Given the description of an element on the screen output the (x, y) to click on. 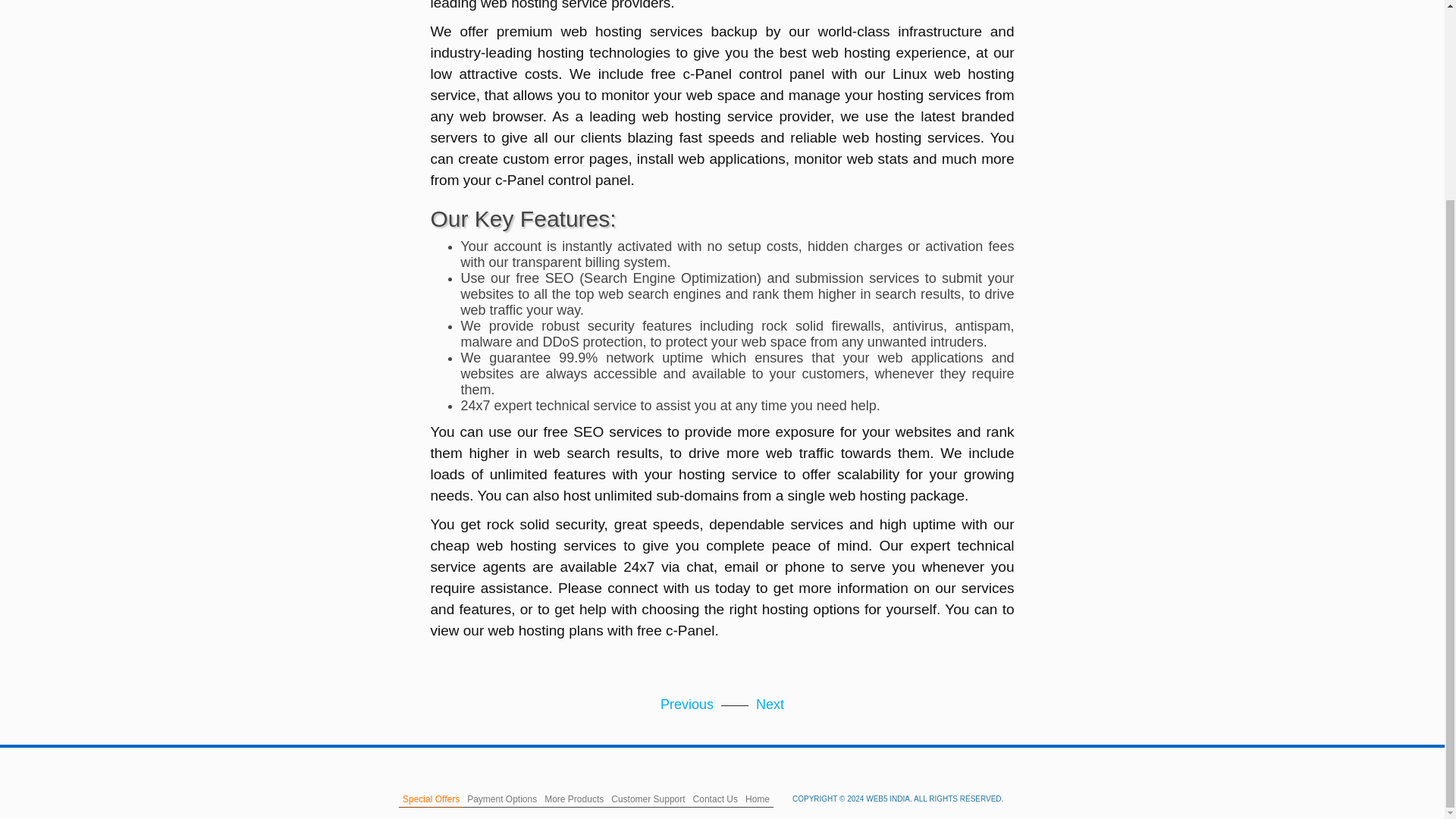
More Products (573, 798)
Next (769, 703)
Payment Options (501, 798)
Special Offers (430, 798)
Contact Us (714, 798)
Customer Support (647, 798)
Home (757, 798)
Previous (687, 703)
